Given the description of an element on the screen output the (x, y) to click on. 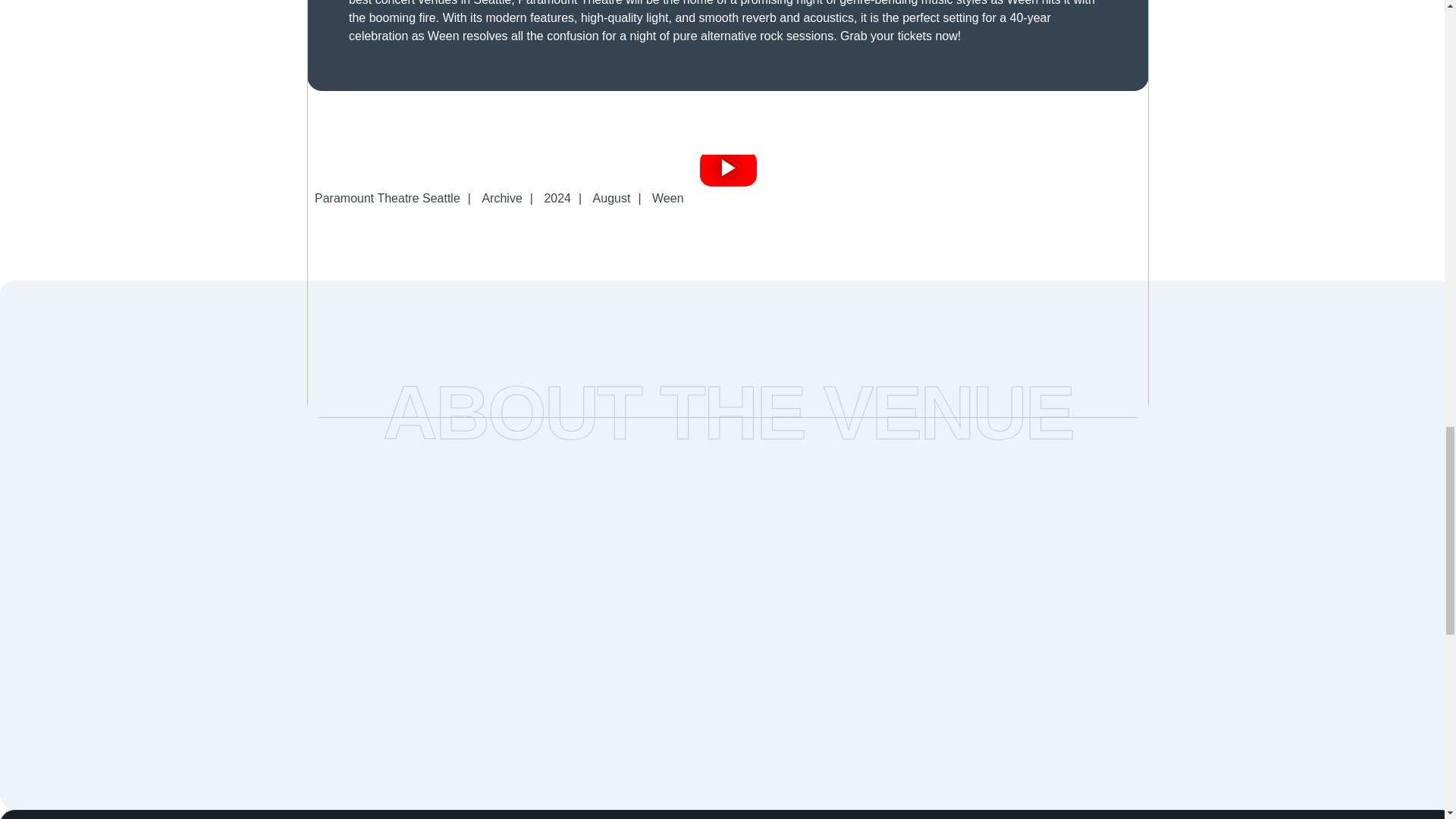
Paramount Theatre Seattle (387, 197)
Archive (501, 197)
August (612, 197)
2024 (556, 197)
